Given the description of an element on the screen output the (x, y) to click on. 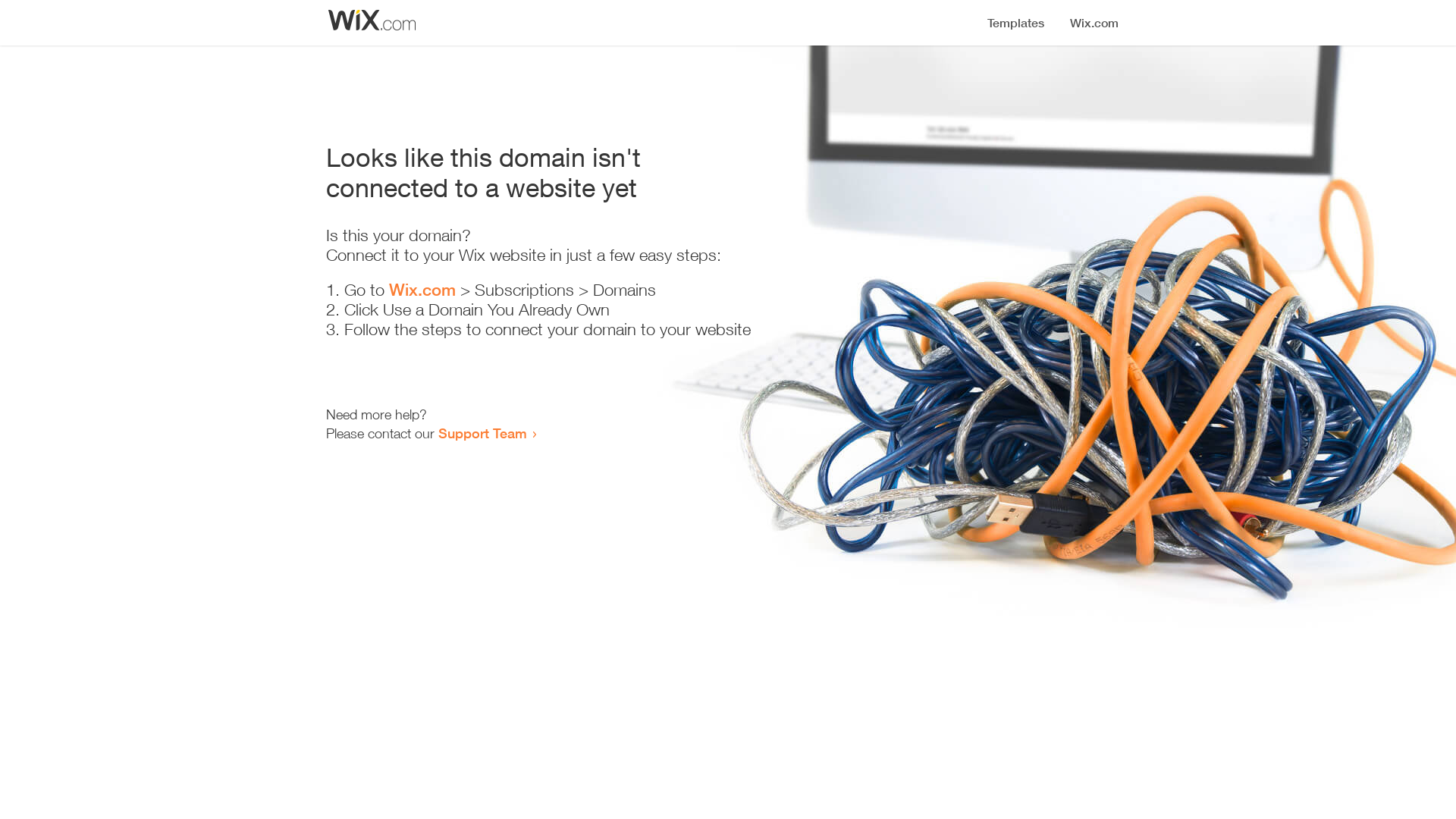
Wix.com Element type: text (422, 289)
Support Team Element type: text (482, 432)
